Given the description of an element on the screen output the (x, y) to click on. 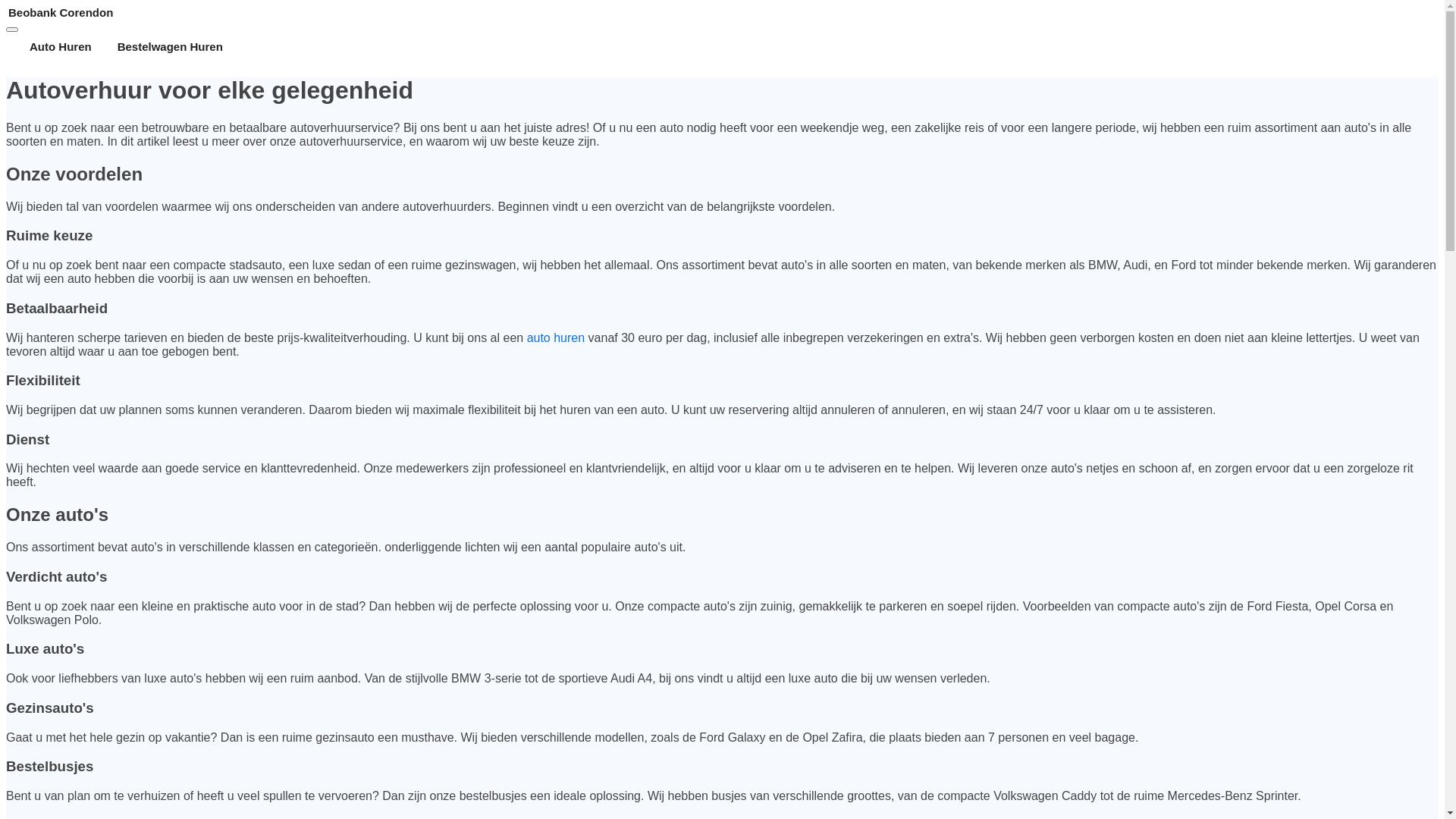
Bestelwagen Huren Element type: text (170, 46)
Auto Huren Element type: text (60, 46)
auto huren Element type: text (556, 337)
Beobank Corendon Element type: text (722, 12)
